Given the description of an element on the screen output the (x, y) to click on. 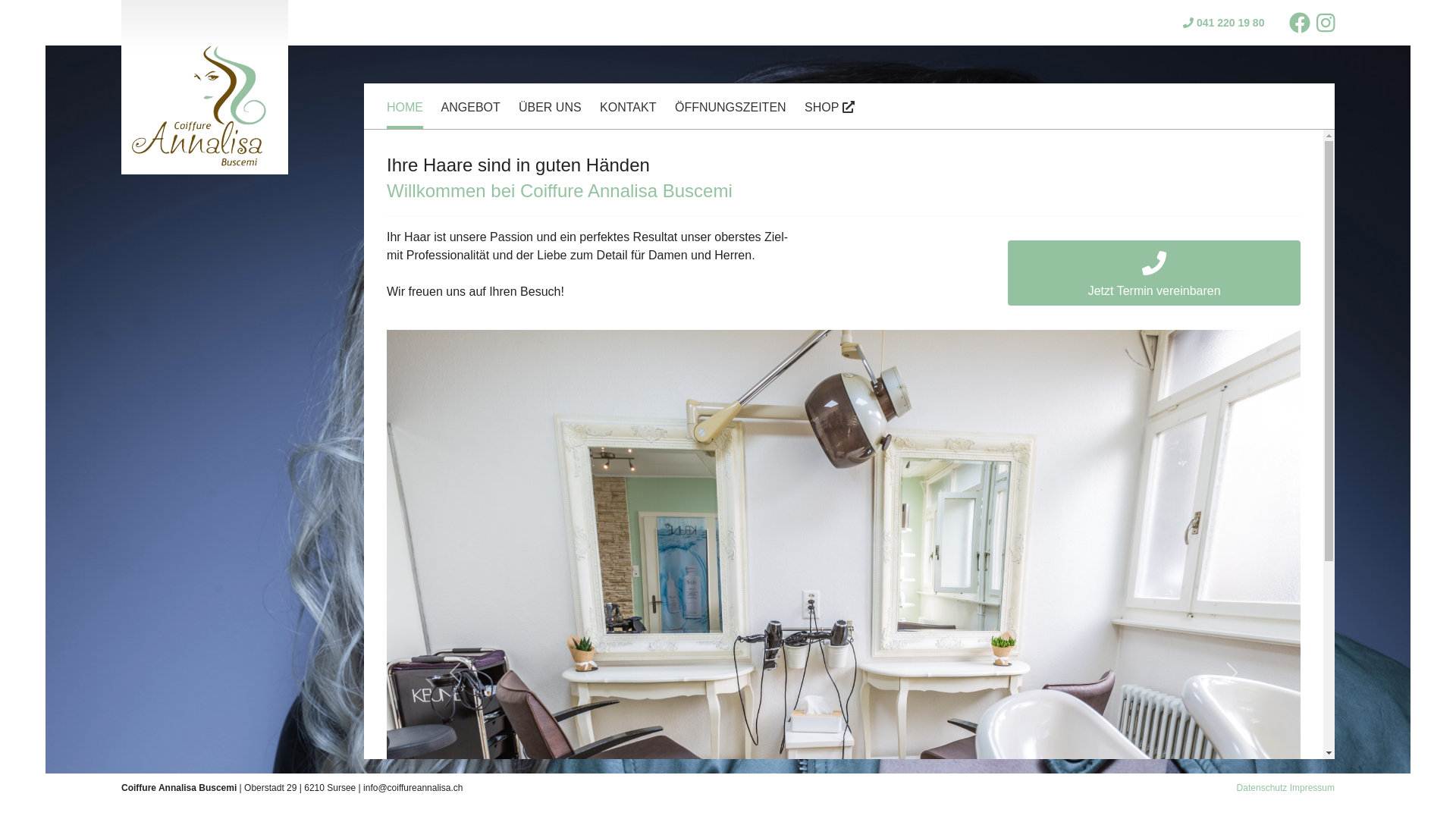
SHOP Element type: text (829, 109)
KONTAKT Element type: text (627, 109)
Jetzt Termin vereinbaren Element type: text (1153, 272)
HOME Element type: text (404, 110)
Datenschutz Element type: text (1261, 787)
041 220 19 80 Element type: text (1223, 22)
ANGEBOT Element type: text (470, 109)
Impressum Element type: text (1311, 787)
